Given the description of an element on the screen output the (x, y) to click on. 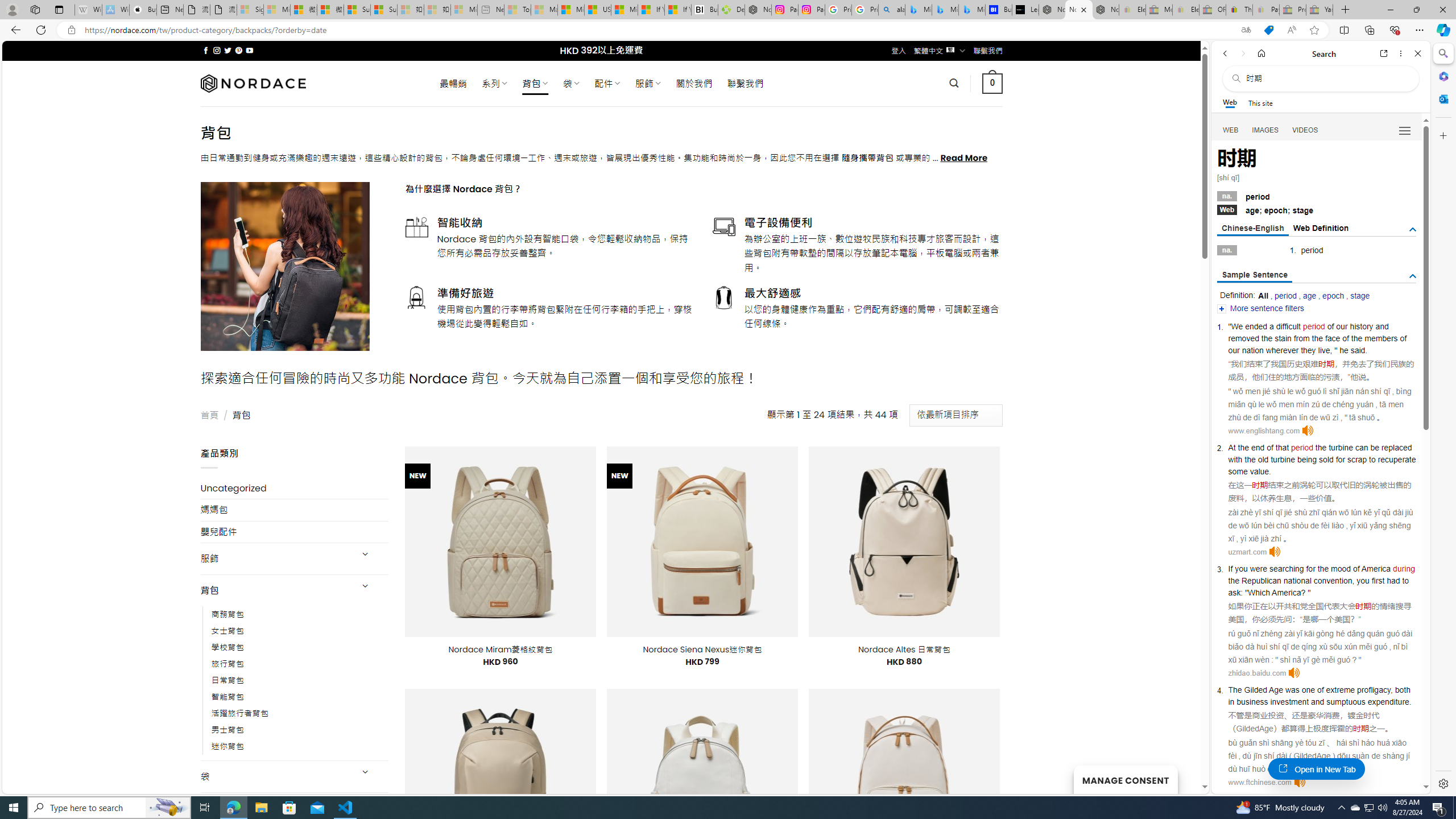
Which (1258, 592)
Follow on Twitter (227, 50)
  0   (992, 83)
ended (1256, 325)
Follow on Instagram (216, 50)
Search Filter, VIDEOS (1304, 129)
Address and search bar (658, 29)
